Given the description of an element on the screen output the (x, y) to click on. 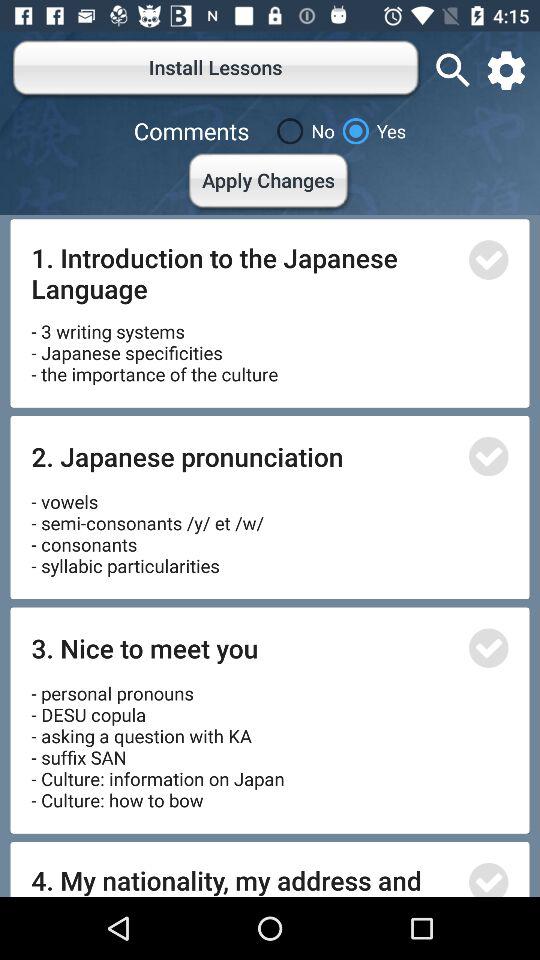
open settings (506, 70)
